Given the description of an element on the screen output the (x, y) to click on. 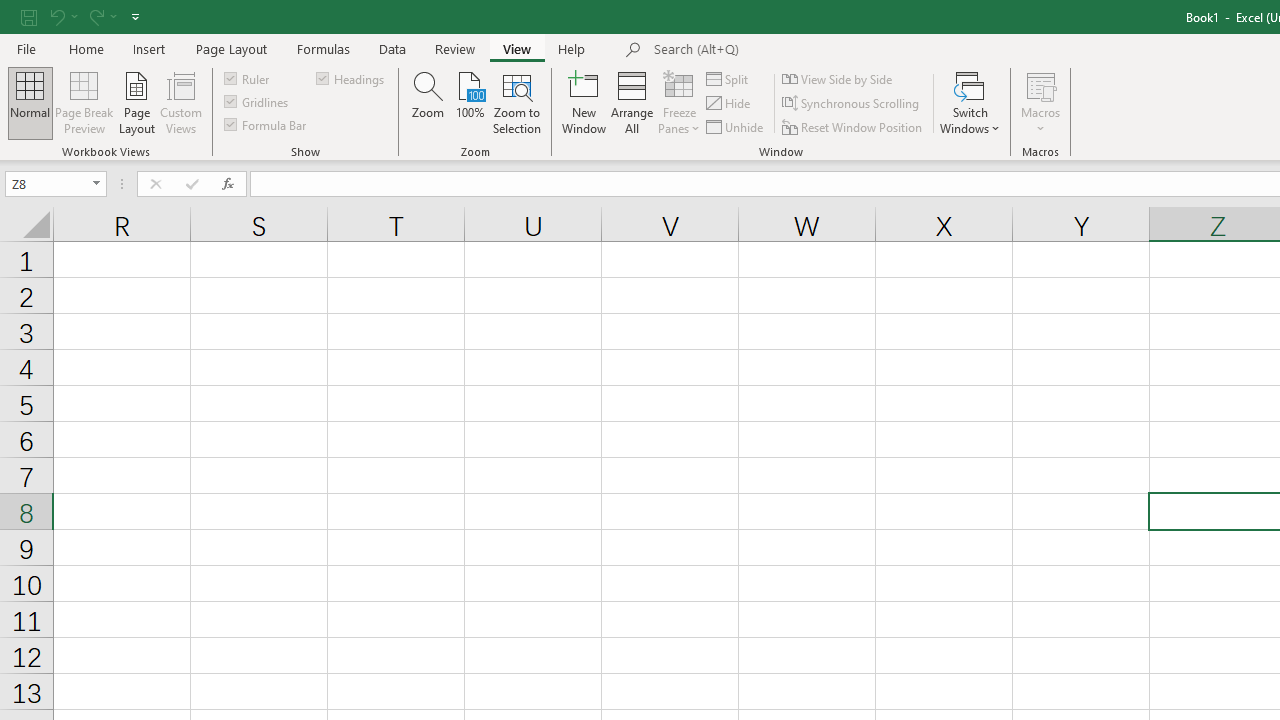
100% (470, 102)
View Macros (1040, 84)
Gridlines (257, 101)
Zoom... (428, 102)
Switch Windows (970, 102)
View Side by Side (838, 78)
